Given the description of an element on the screen output the (x, y) to click on. 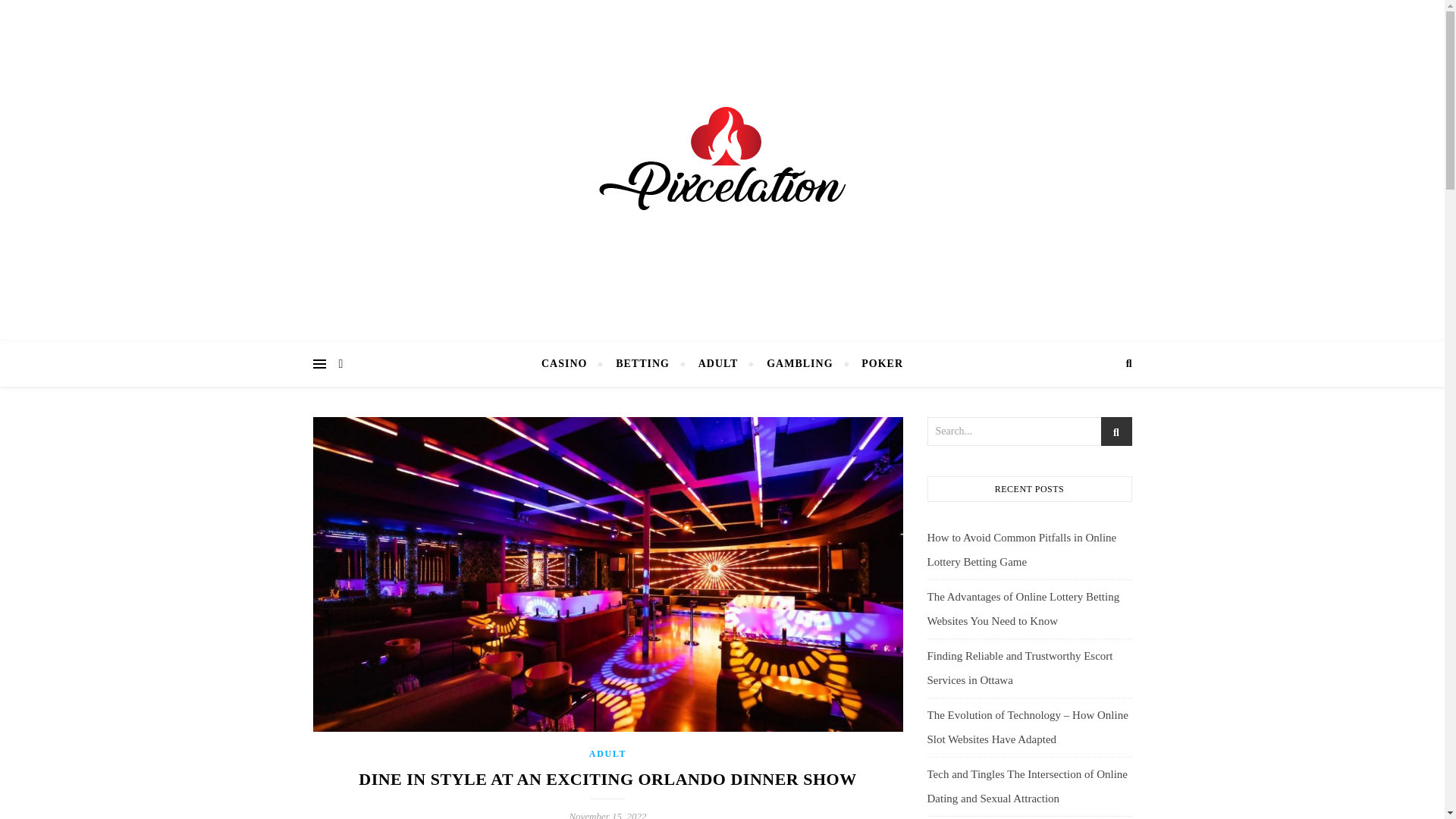
Pixcelation (721, 166)
Finding Reliable and Trustworthy Escort Services in Ottawa (1019, 668)
BETTING (642, 363)
CASINO (570, 363)
POKER (875, 363)
GAMBLING (799, 363)
ADULT (718, 363)
How to Avoid Common Pitfalls in Online Lottery Betting Game (1021, 549)
